Given the description of an element on the screen output the (x, y) to click on. 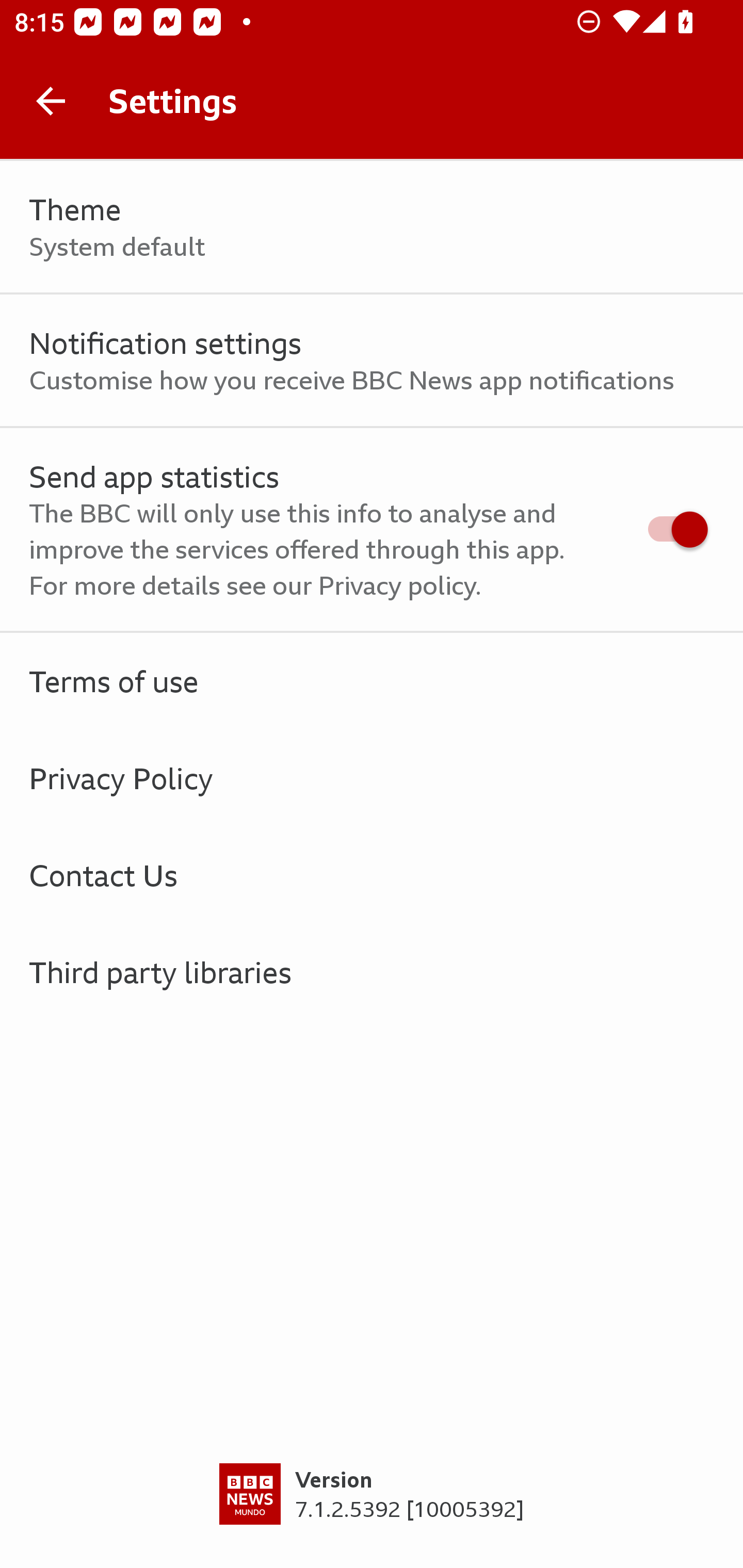
Back (50, 101)
Theme System default (371, 227)
Terms of use (371, 681)
Privacy Policy (371, 777)
Contact Us (371, 874)
Third party libraries (371, 971)
Version 7.1.2.5392 [10005392] (371, 1515)
